Given the description of an element on the screen output the (x, y) to click on. 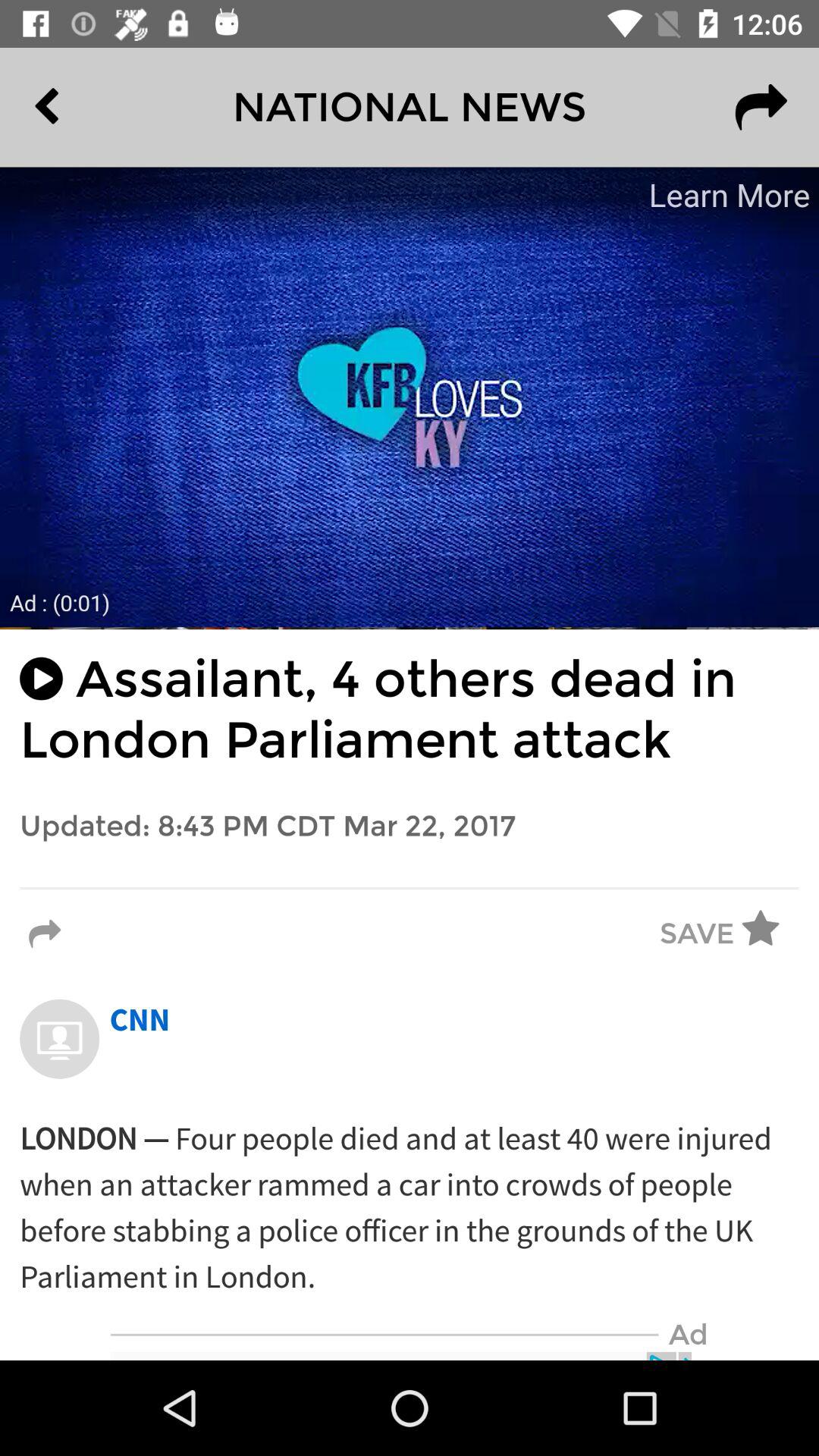
flip to updated 8 43 item (409, 826)
